Given the description of an element on the screen output the (x, y) to click on. 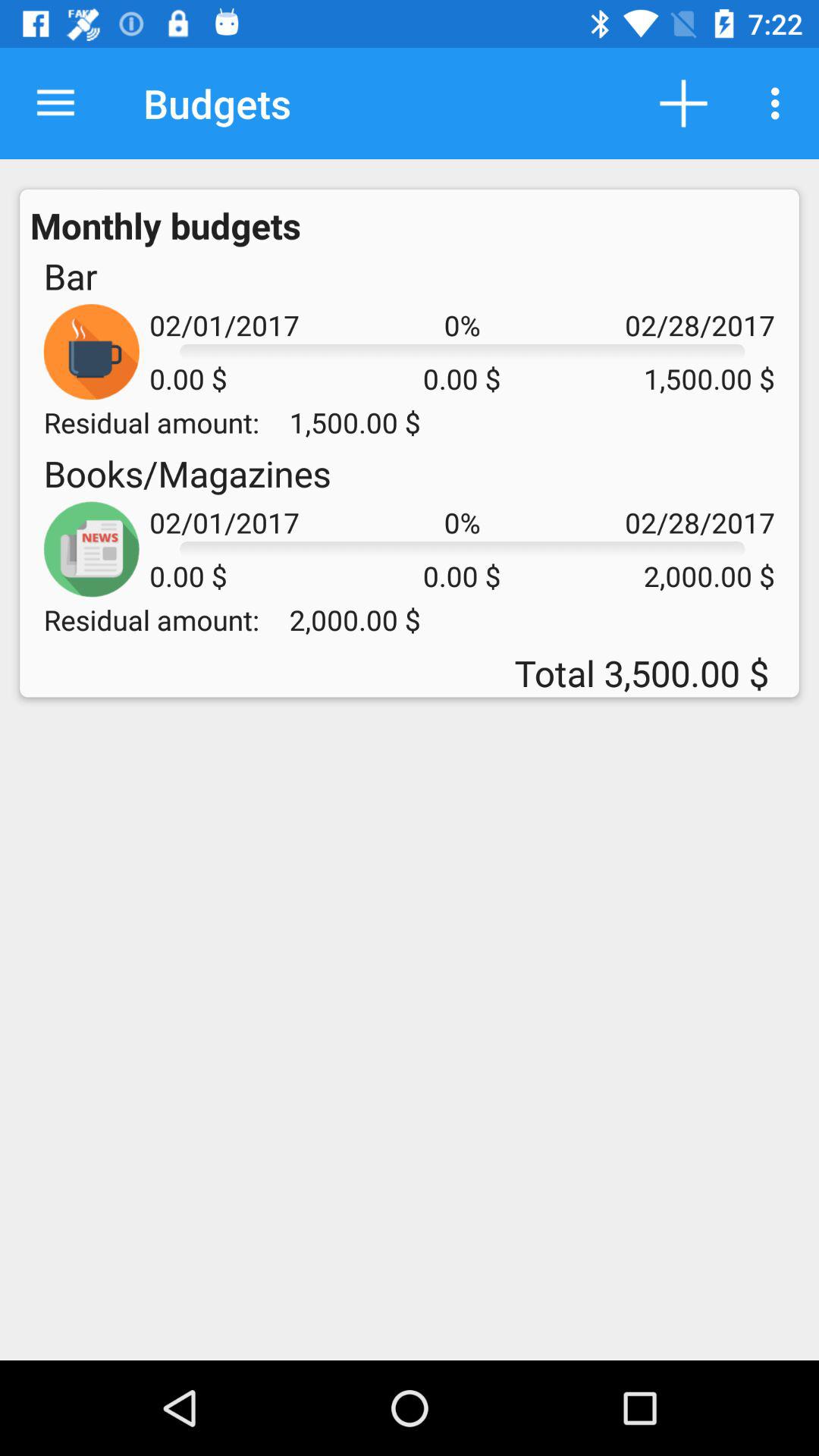
select the item above the monthly budgets (55, 103)
